Given the description of an element on the screen output the (x, y) to click on. 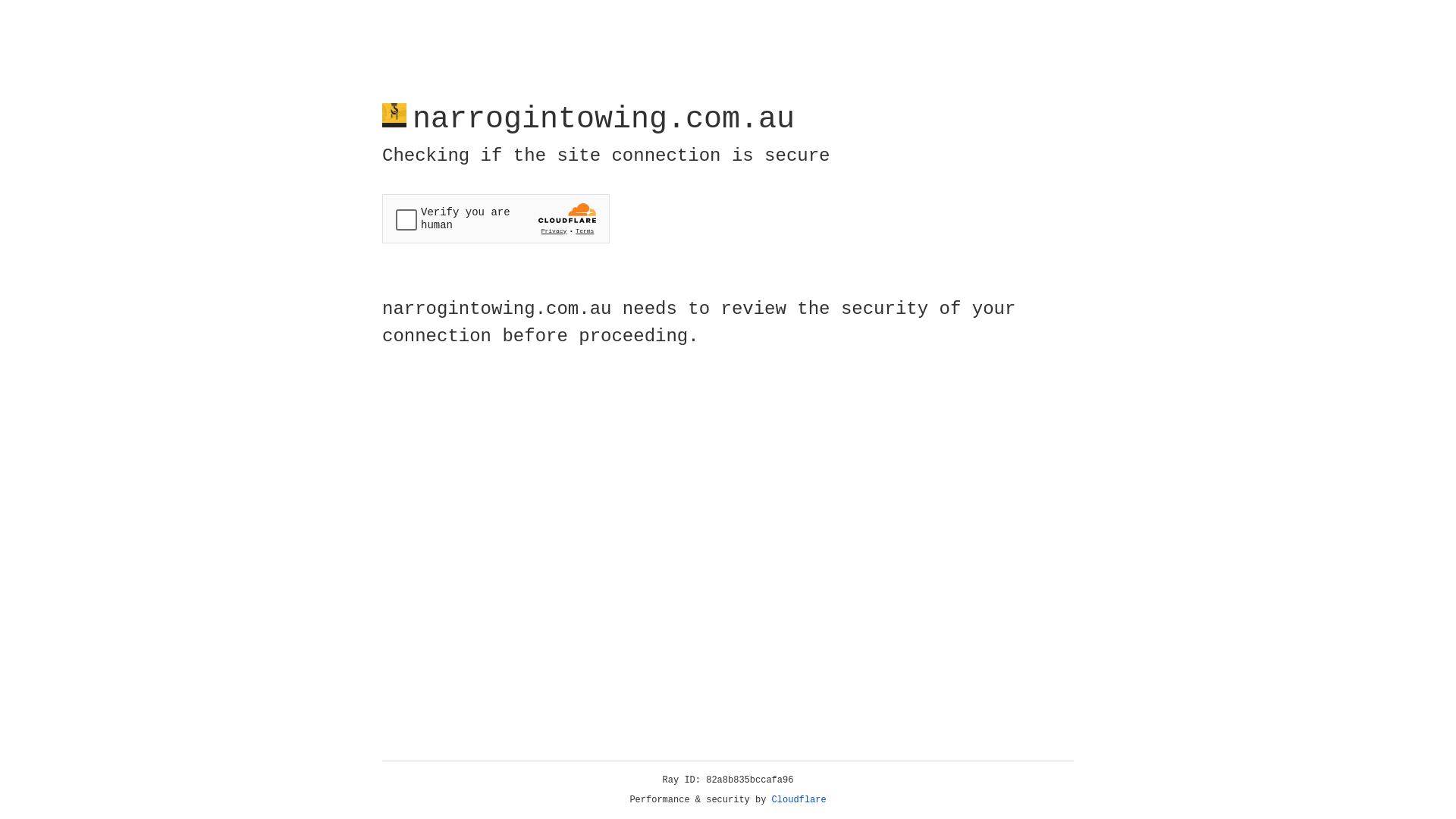
Widget containing a Cloudflare security challenge Element type: hover (495, 218)
Cloudflare Element type: text (798, 799)
